Given the description of an element on the screen output the (x, y) to click on. 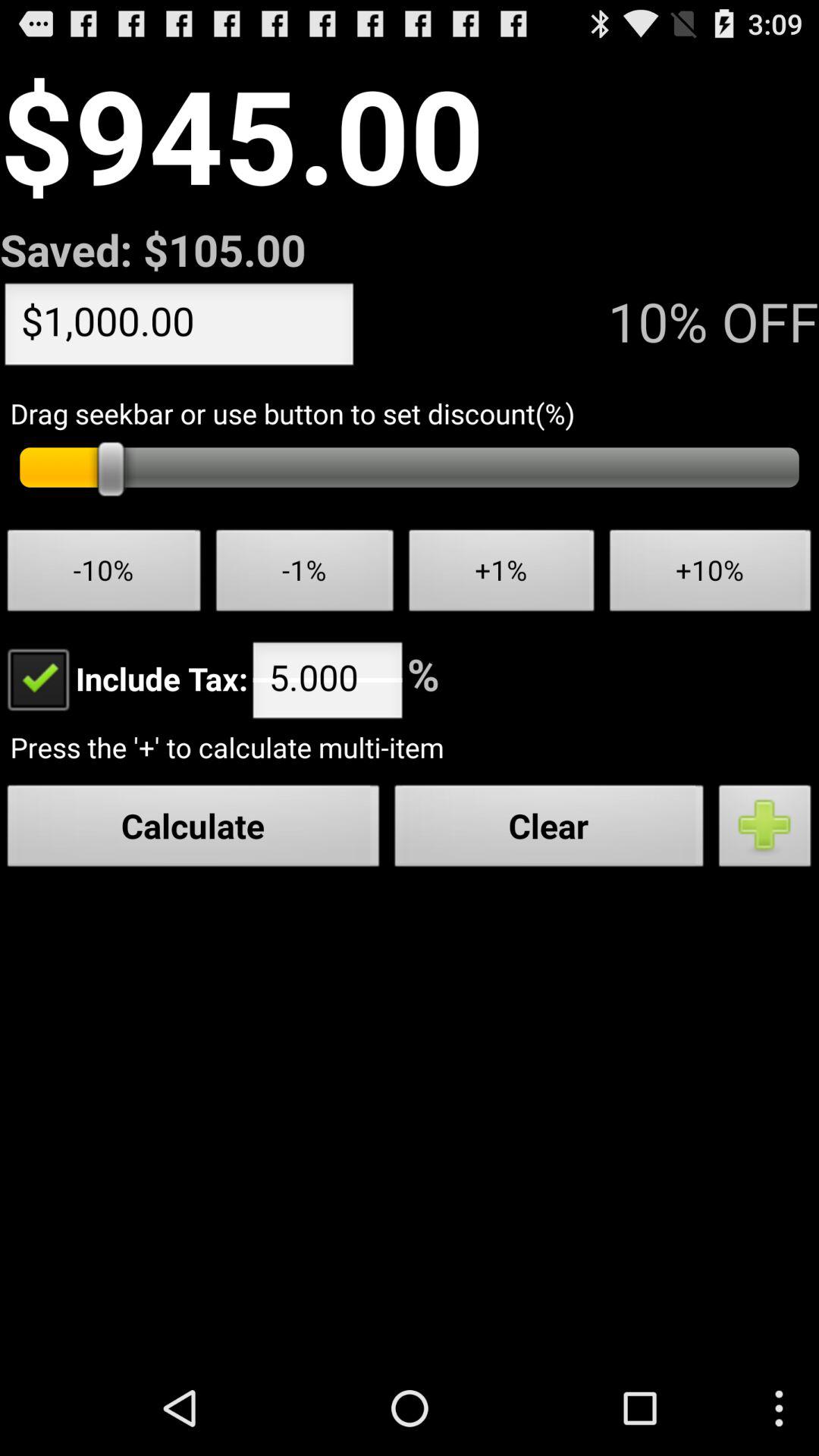
launch the button next to the 5.000 icon (123, 678)
